Given the description of an element on the screen output the (x, y) to click on. 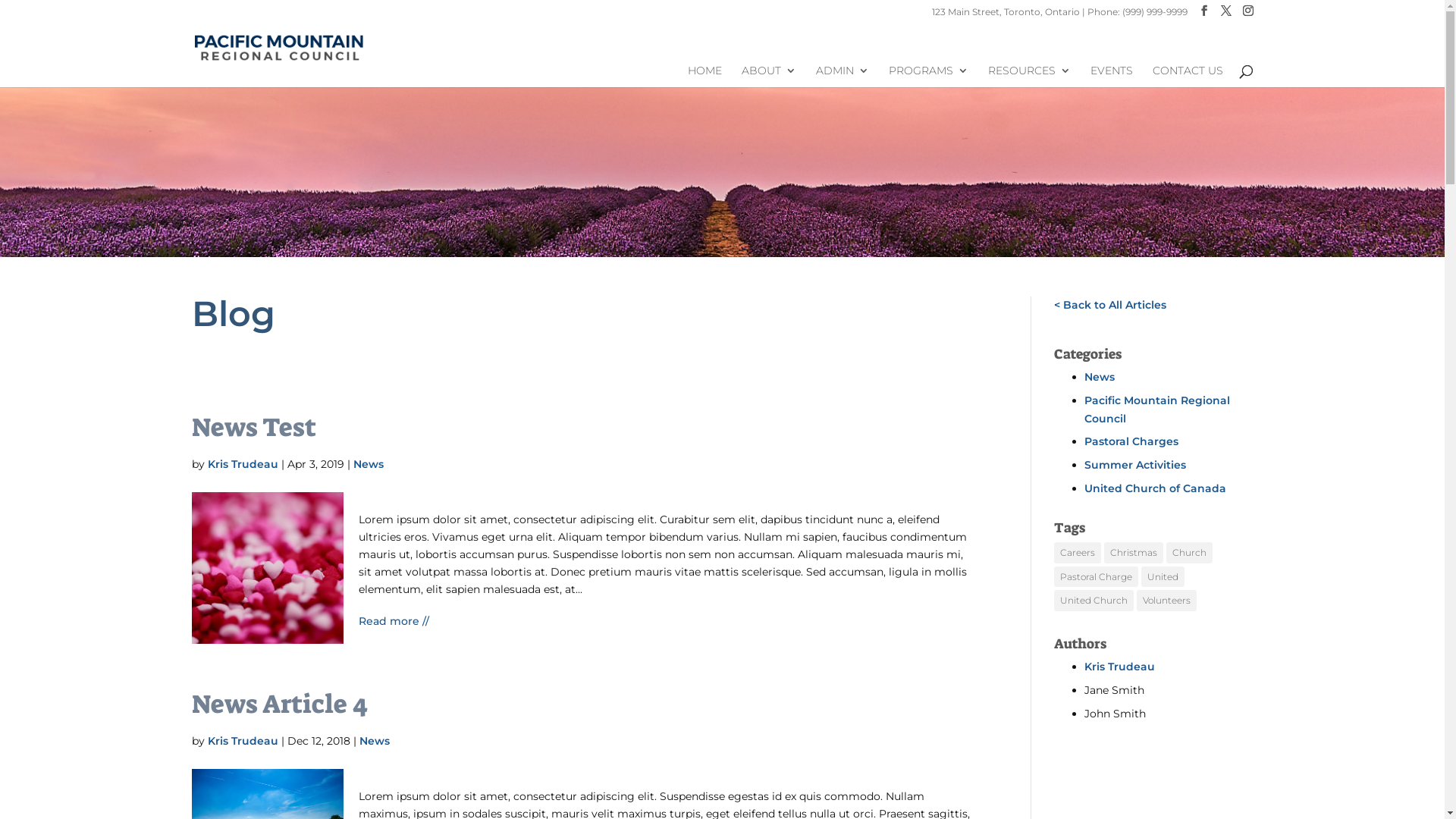
United Element type: text (1162, 576)
ADMIN Element type: text (842, 76)
Christmas Element type: text (1133, 552)
News Element type: text (374, 740)
< Back to All Articles Element type: text (1110, 304)
Pacific Mountain Regional Council Element type: text (1157, 409)
News Article 4 Element type: text (279, 704)
Read more // Element type: text (392, 620)
HOME Element type: text (704, 76)
News Element type: text (368, 463)
Pastoral Charges Element type: text (1131, 441)
United Church of Canada Element type: text (1155, 488)
CONTACT US Element type: text (1187, 76)
Careers Element type: text (1077, 552)
Kris Trudeau Element type: text (1119, 666)
Summer Activities Element type: text (1135, 464)
Kris Trudeau Element type: text (242, 740)
EVENTS Element type: text (1111, 76)
RESOURCES Element type: text (1028, 76)
PROGRAMS Element type: text (928, 76)
Volunteers Element type: text (1166, 600)
Kris Trudeau Element type: text (242, 463)
Pastoral Charge Element type: text (1096, 576)
News Element type: text (1099, 376)
United Church Element type: text (1093, 600)
Church Element type: text (1189, 552)
News Test Element type: text (253, 427)
ABOUT Element type: text (768, 76)
